Given the description of an element on the screen output the (x, y) to click on. 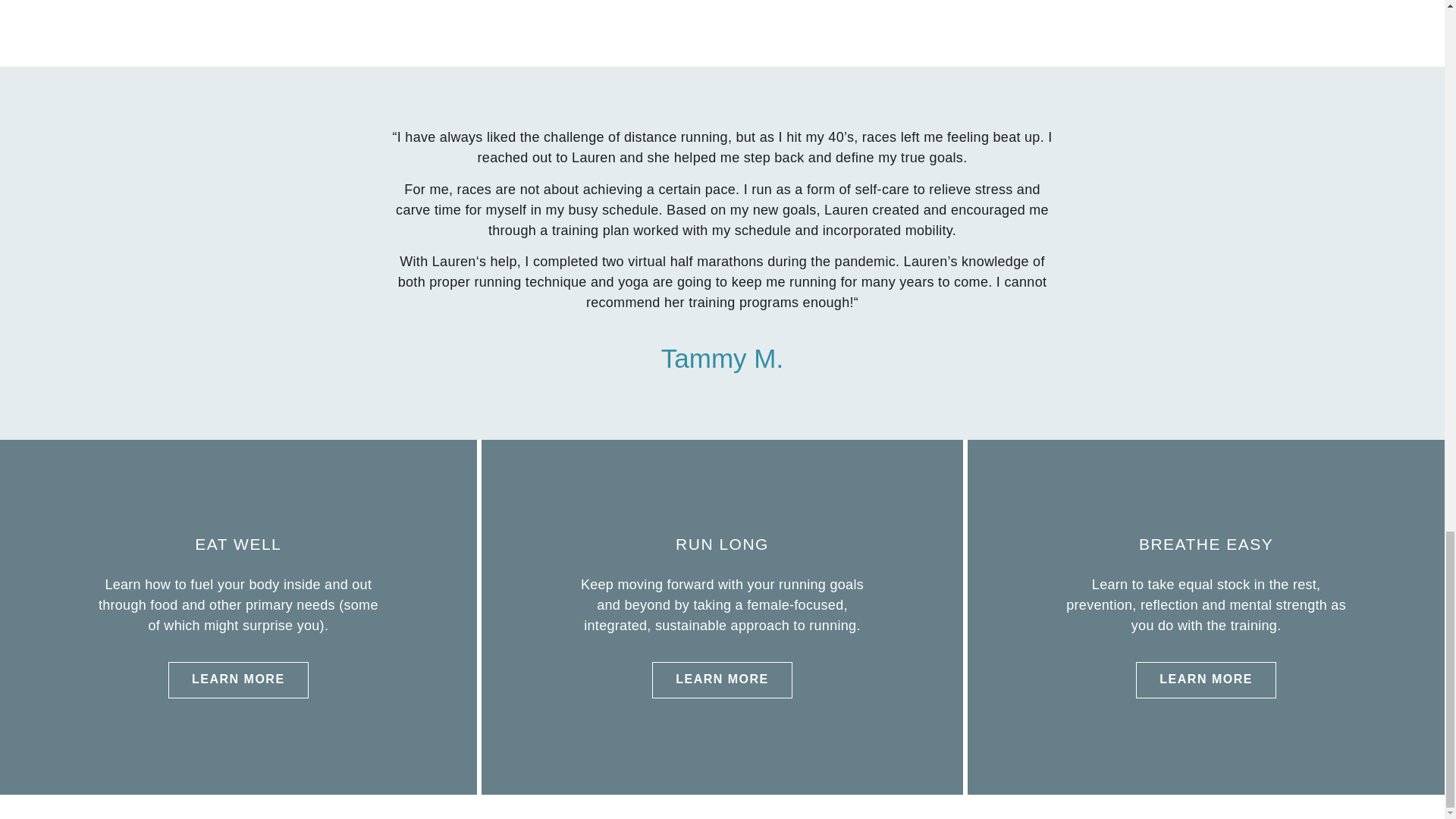
LEARN MORE (1205, 679)
LEARN MORE (722, 679)
LEARN MORE (238, 679)
